Given the description of an element on the screen output the (x, y) to click on. 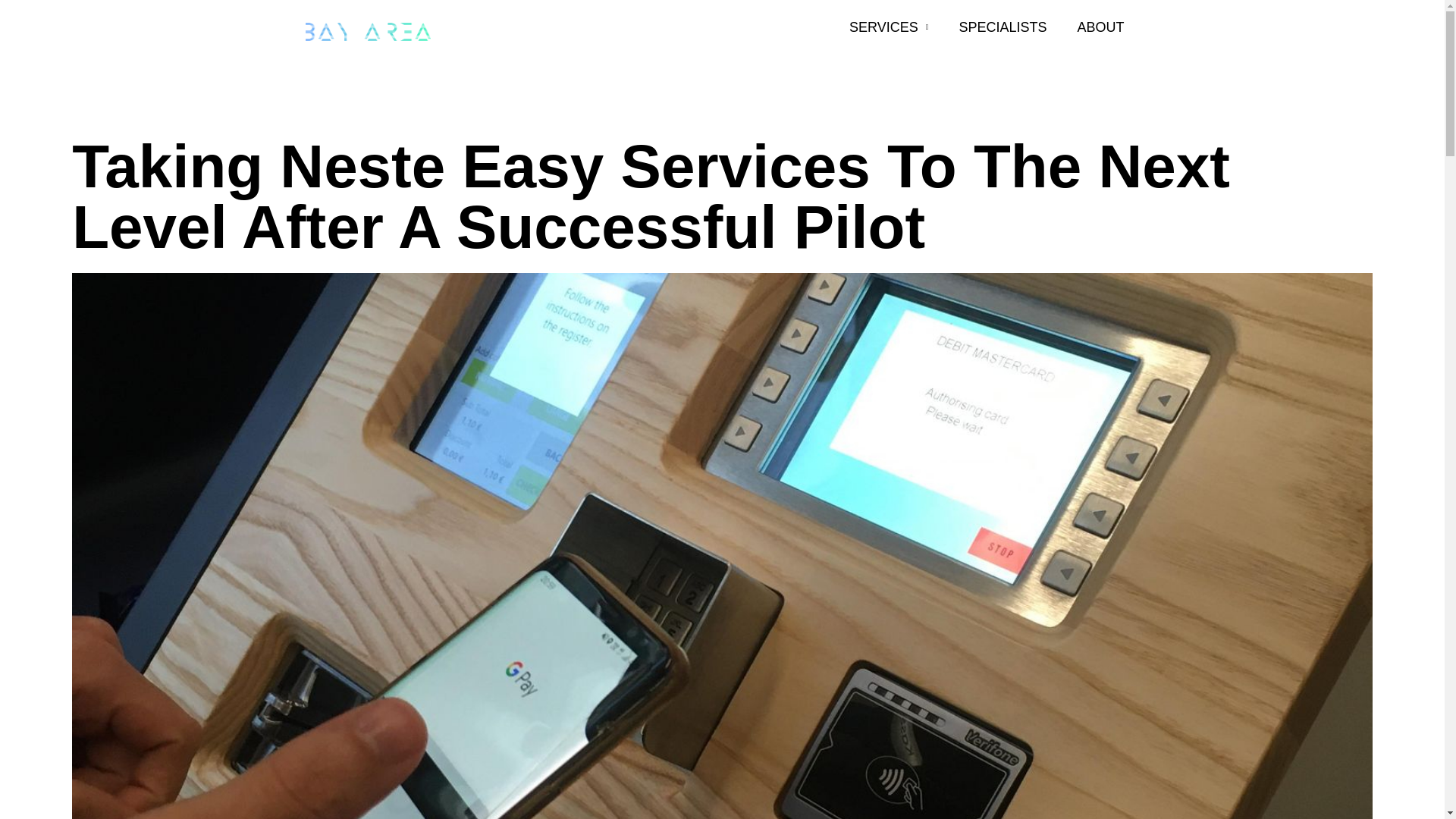
SPECIALISTS (1002, 27)
ABOUT (1099, 27)
SERVICES (888, 27)
